Given the description of an element on the screen output the (x, y) to click on. 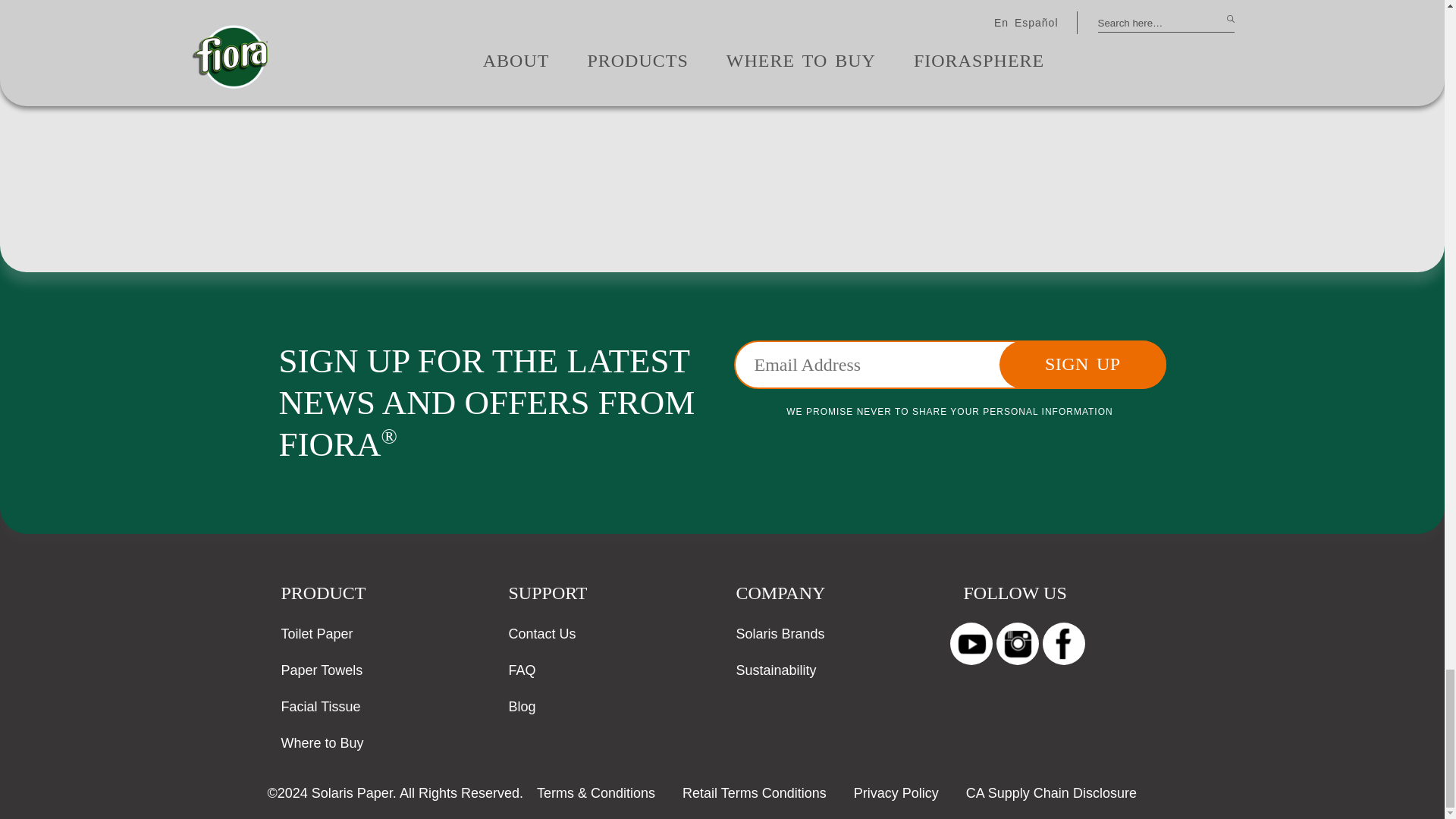
FAQ (526, 677)
CA Supply Chain Disclosure (1051, 793)
Sustainability (775, 677)
Blog (526, 713)
SUPPORT (547, 593)
Solaris Brands (779, 640)
youtube (970, 643)
Paper Towels (321, 677)
Sign Up (1082, 364)
Facial Tissue (320, 713)
